Given the description of an element on the screen output the (x, y) to click on. 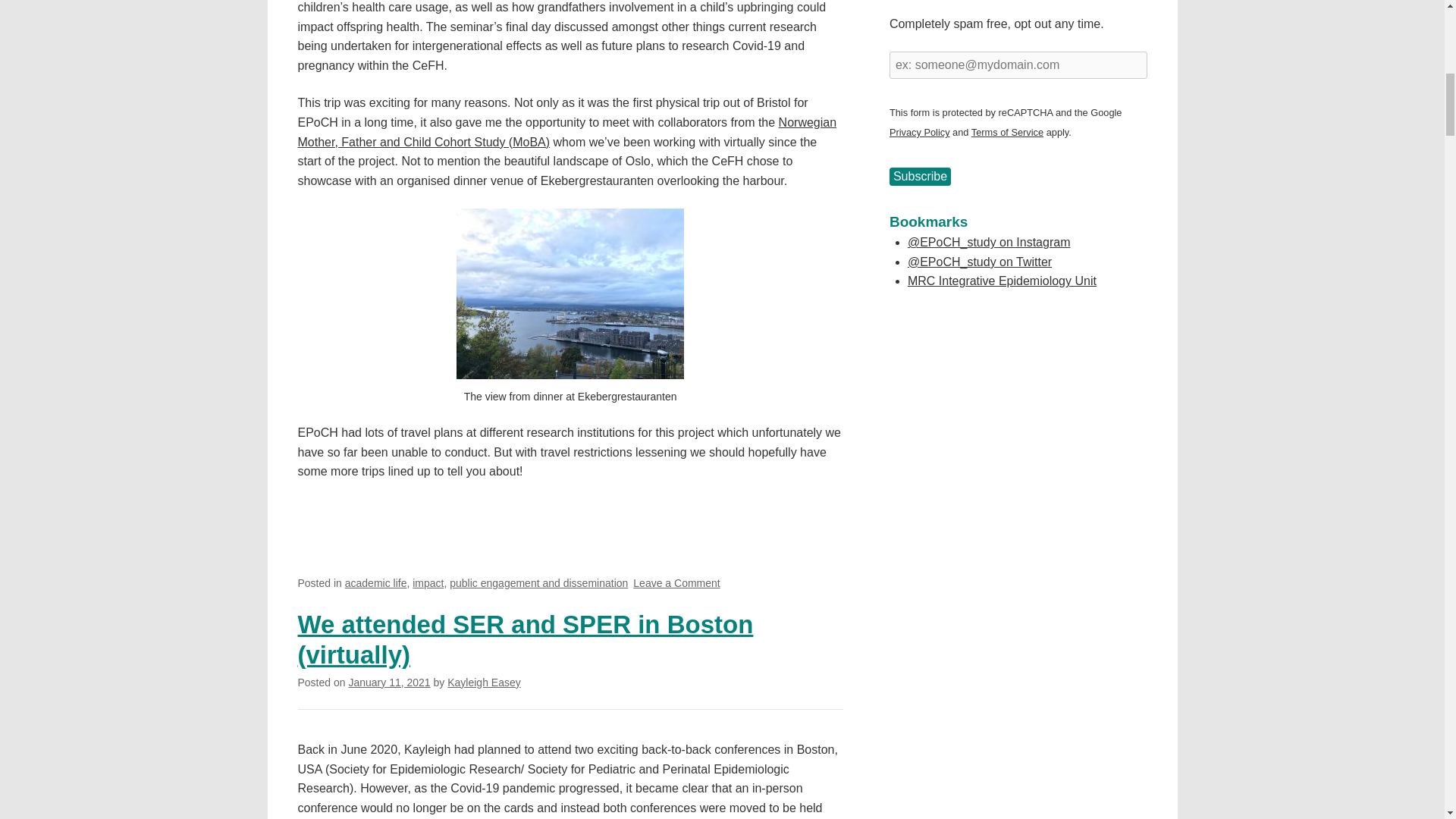
academic life (376, 582)
Subscribe (919, 176)
Kayleigh Easey (483, 682)
impact (428, 582)
January 11, 2021 (676, 582)
public engagement and dissemination (388, 682)
